Given the description of an element on the screen output the (x, y) to click on. 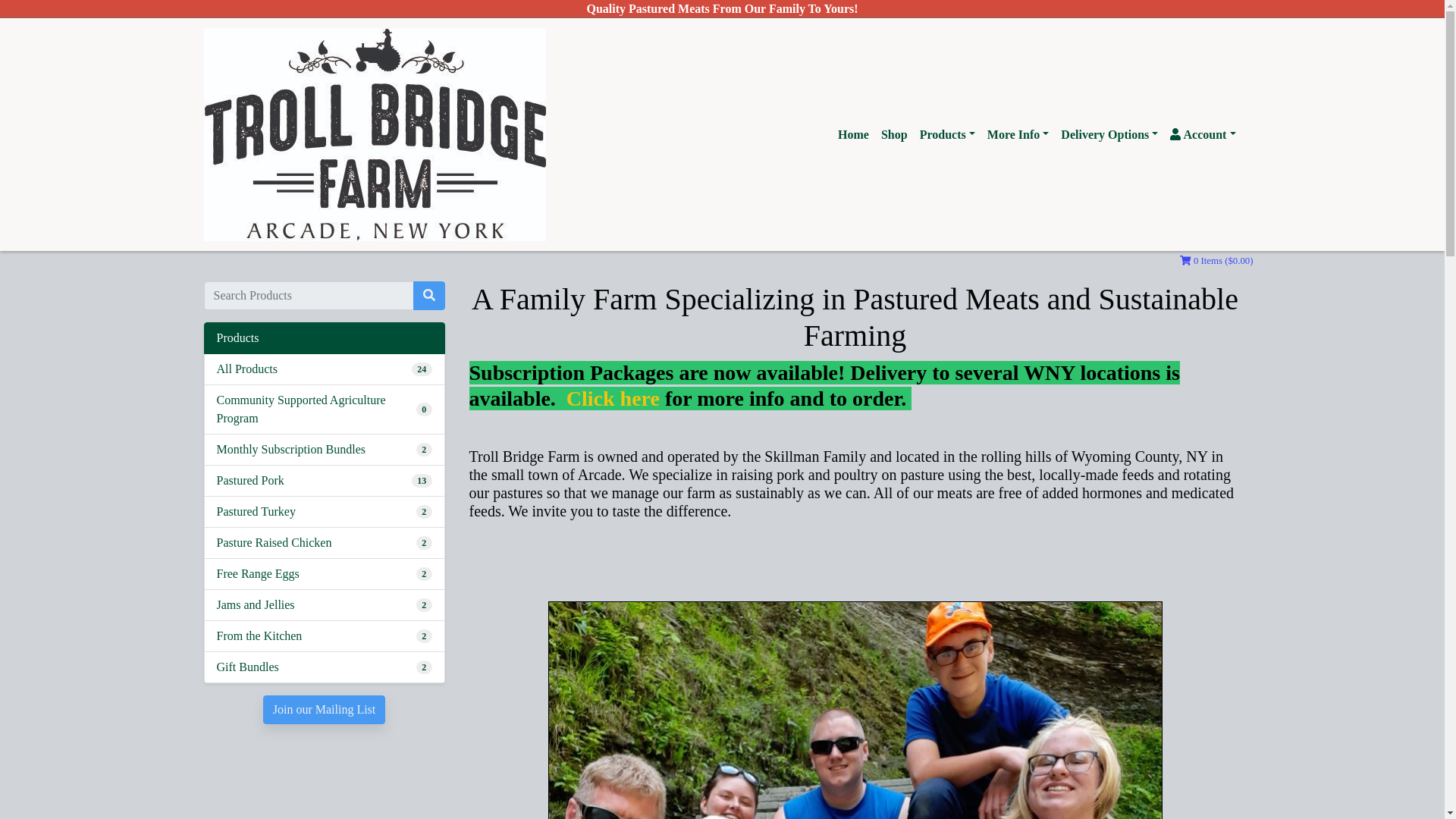
Products (947, 134)
Pasture Raised Chicken (273, 542)
Pastured Turkey (255, 511)
Jams and Jellies (255, 605)
More Info (1018, 134)
Delivery Options (1108, 134)
All Products (247, 369)
From the Kitchen (259, 636)
Home (853, 134)
Pastured Pork (249, 480)
Free Range Eggs (257, 574)
Shop (894, 134)
Monthly Subscription Bundles (290, 449)
Account (1202, 134)
Community Supported Agriculture Program (316, 409)
